Given the description of an element on the screen output the (x, y) to click on. 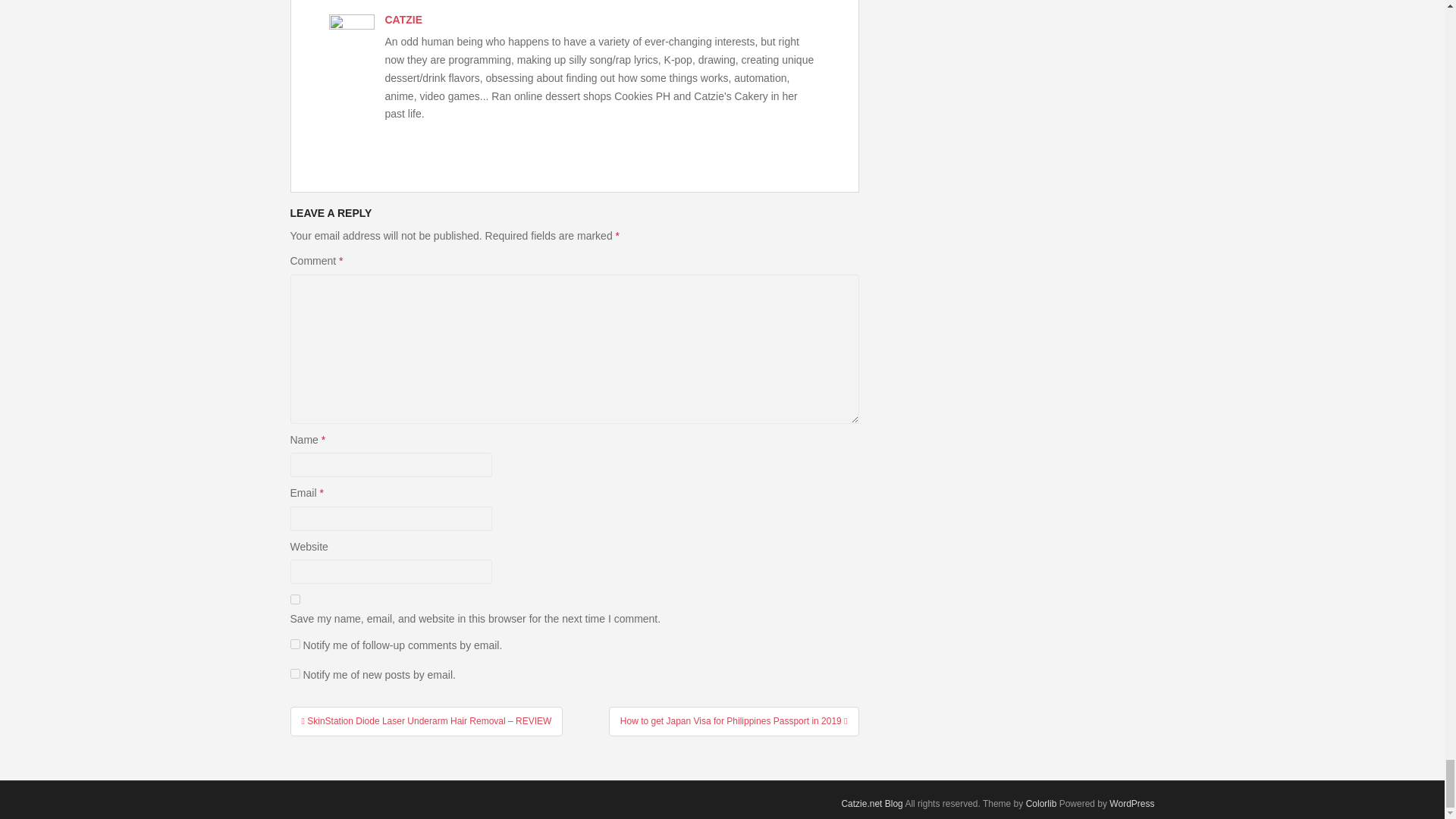
subscribe (294, 644)
yes (294, 599)
subscribe (294, 673)
